Given the description of an element on the screen output the (x, y) to click on. 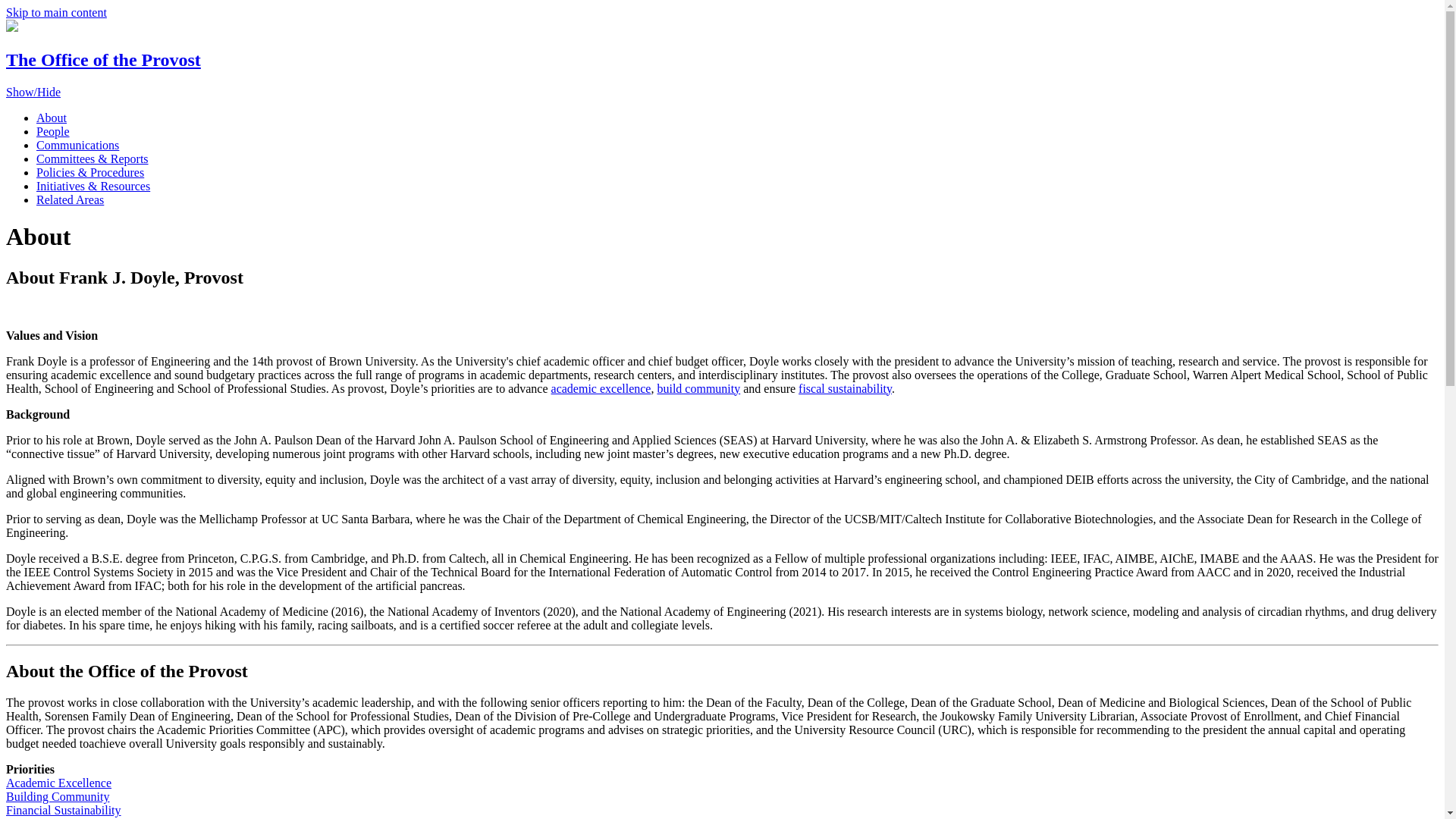
Related Areas (69, 199)
Academic Excellence (58, 782)
Communications (77, 144)
Skip to main content (55, 11)
Building Community (57, 796)
fiscal sustainability (844, 388)
Financial Sustainability (62, 809)
People (52, 131)
The Office of the Provost (102, 59)
About (51, 117)
